Given the description of an element on the screen output the (x, y) to click on. 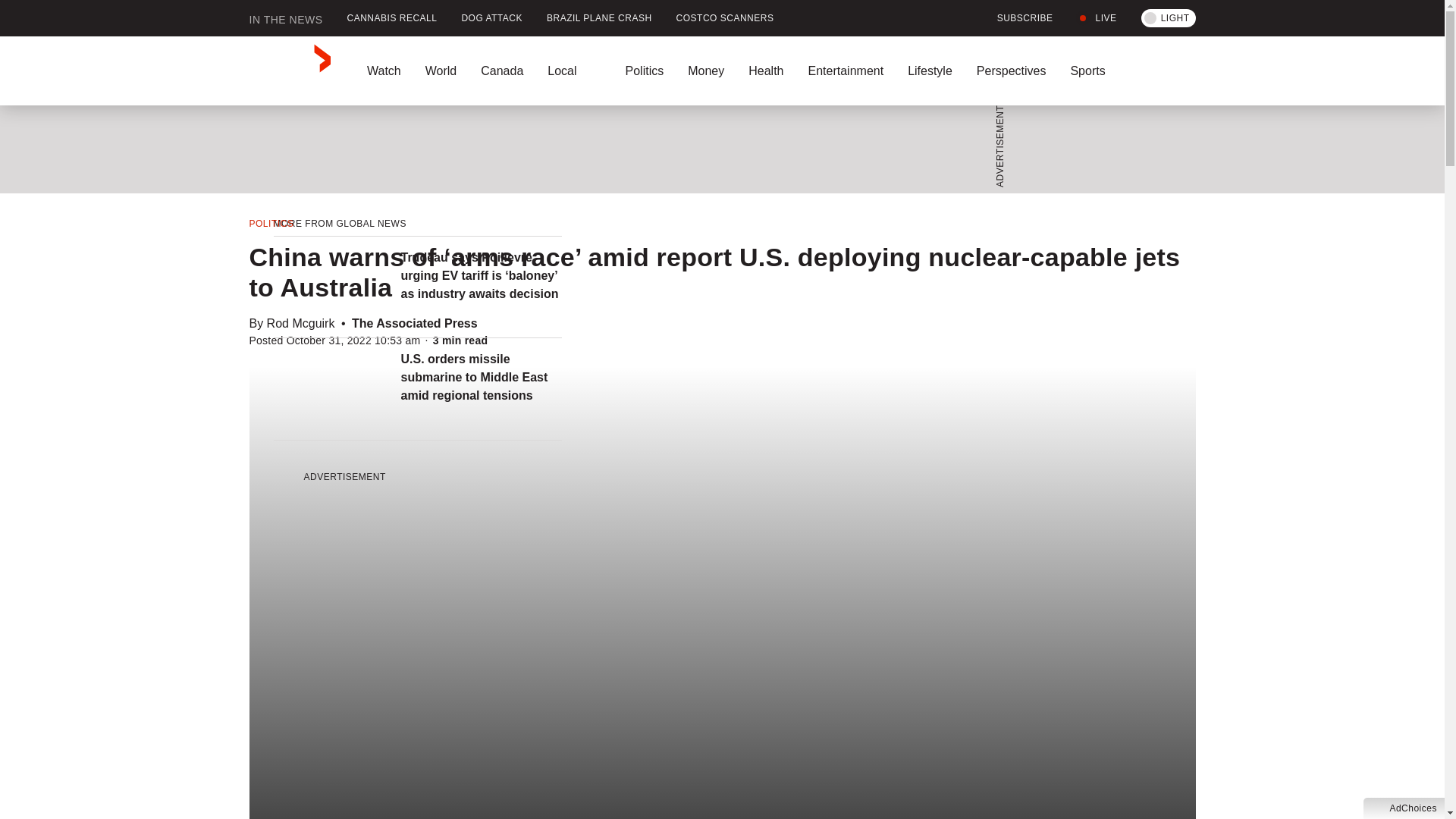
Perspectives (1010, 70)
LIVE (1096, 18)
DOG ATTACK (491, 18)
SUBSCRIBE (1015, 18)
CANNABIS RECALL (391, 18)
BRAZIL PLANE CRASH (598, 18)
Politics (643, 70)
Canada (501, 70)
GlobalNews home (289, 70)
